Given the description of an element on the screen output the (x, y) to click on. 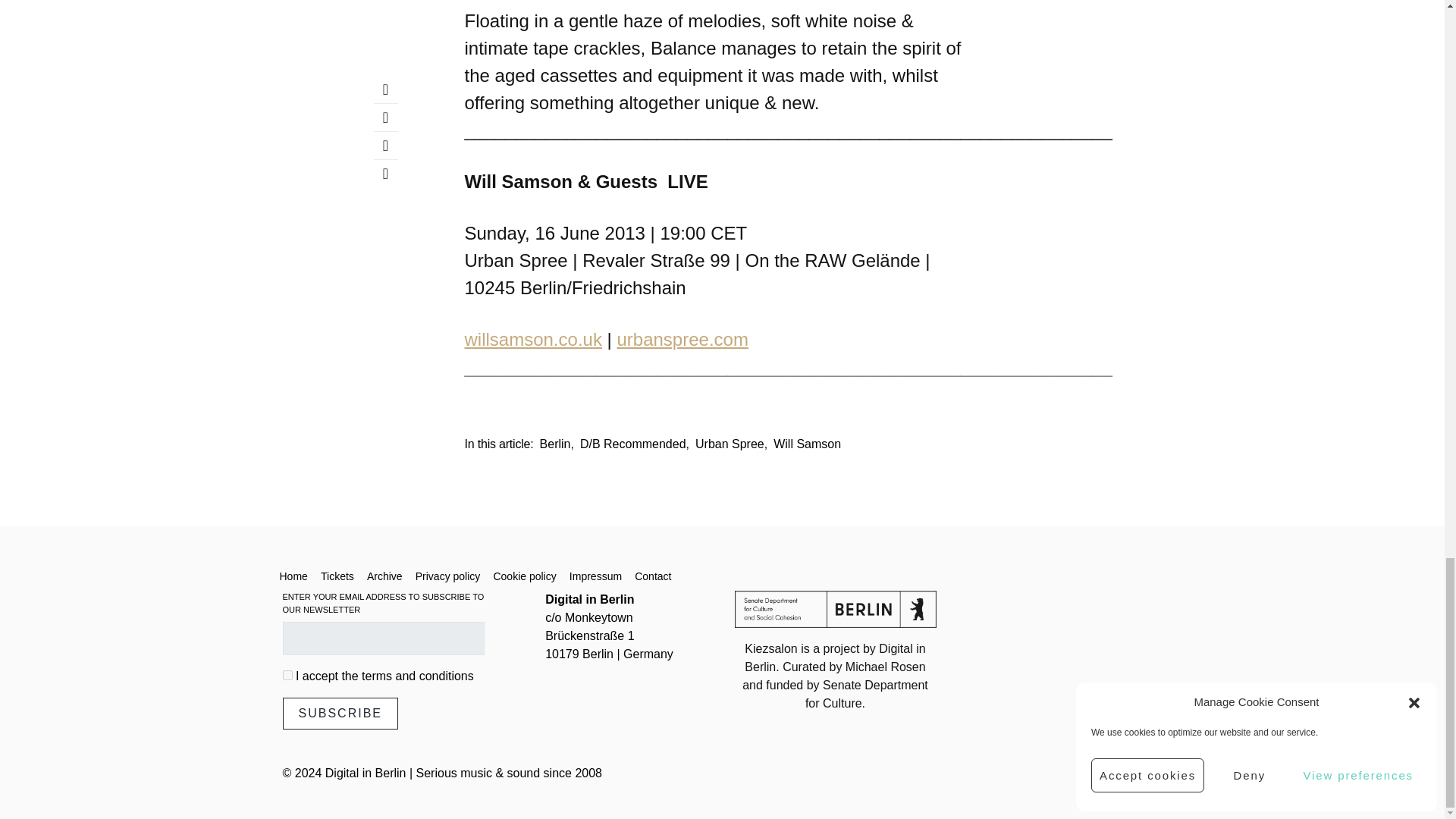
on (287, 675)
Please enter a valid email address (382, 638)
Subscribe (339, 713)
